Given the description of an element on the screen output the (x, y) to click on. 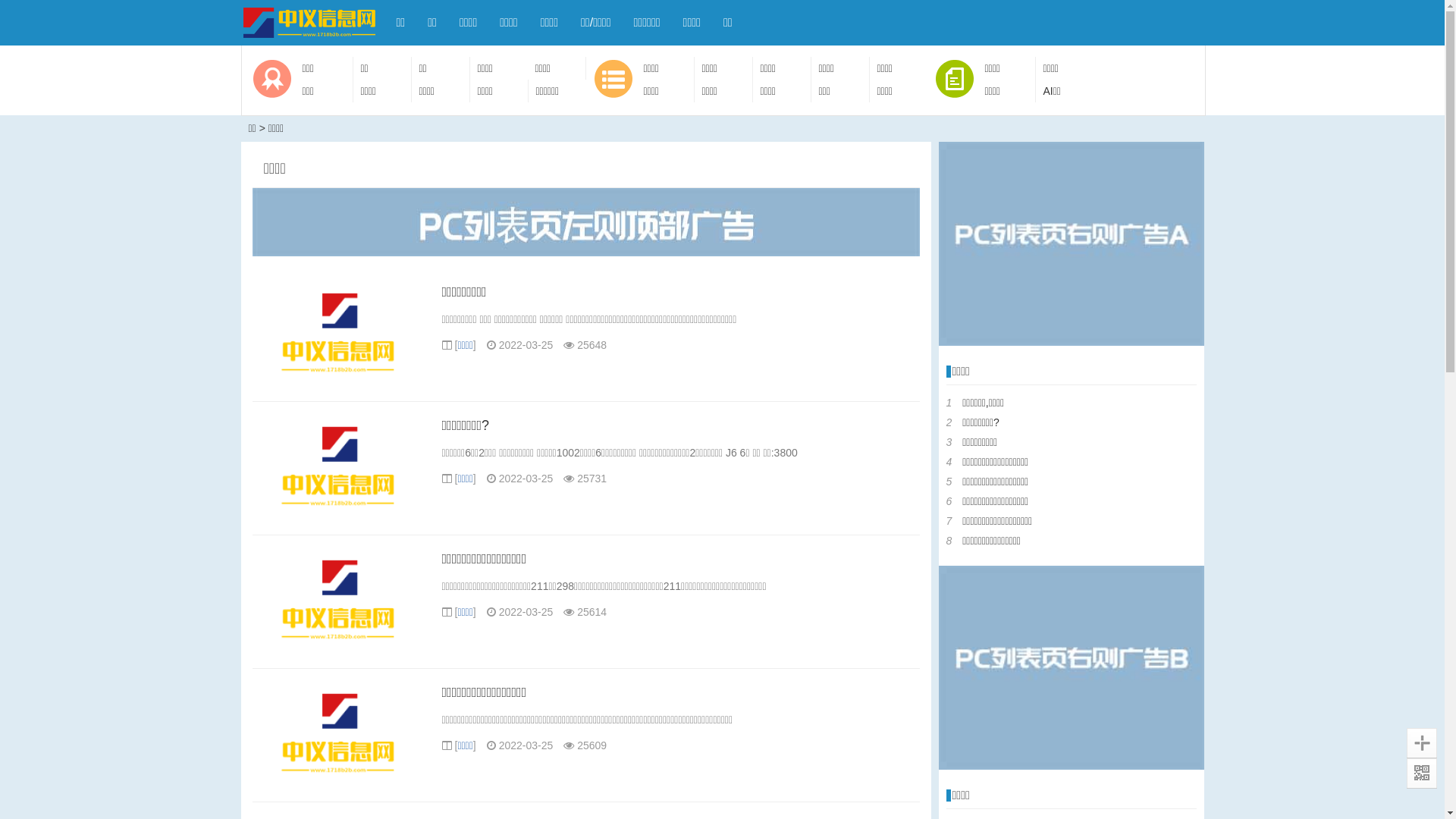
QR Code Element type: hover (1421, 773)
